Given the description of an element on the screen output the (x, y) to click on. 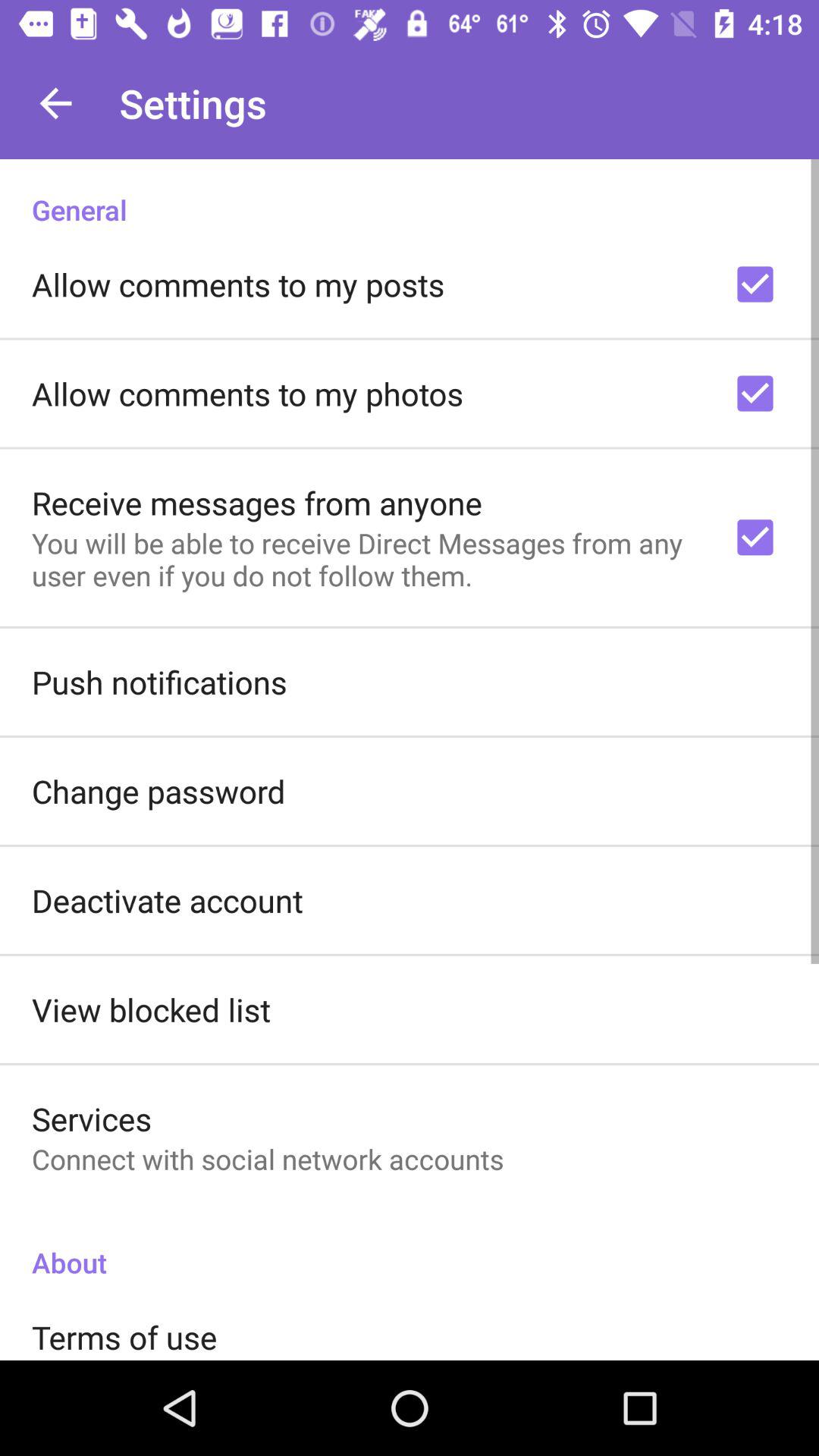
turn off item above general (55, 103)
